Given the description of an element on the screen output the (x, y) to click on. 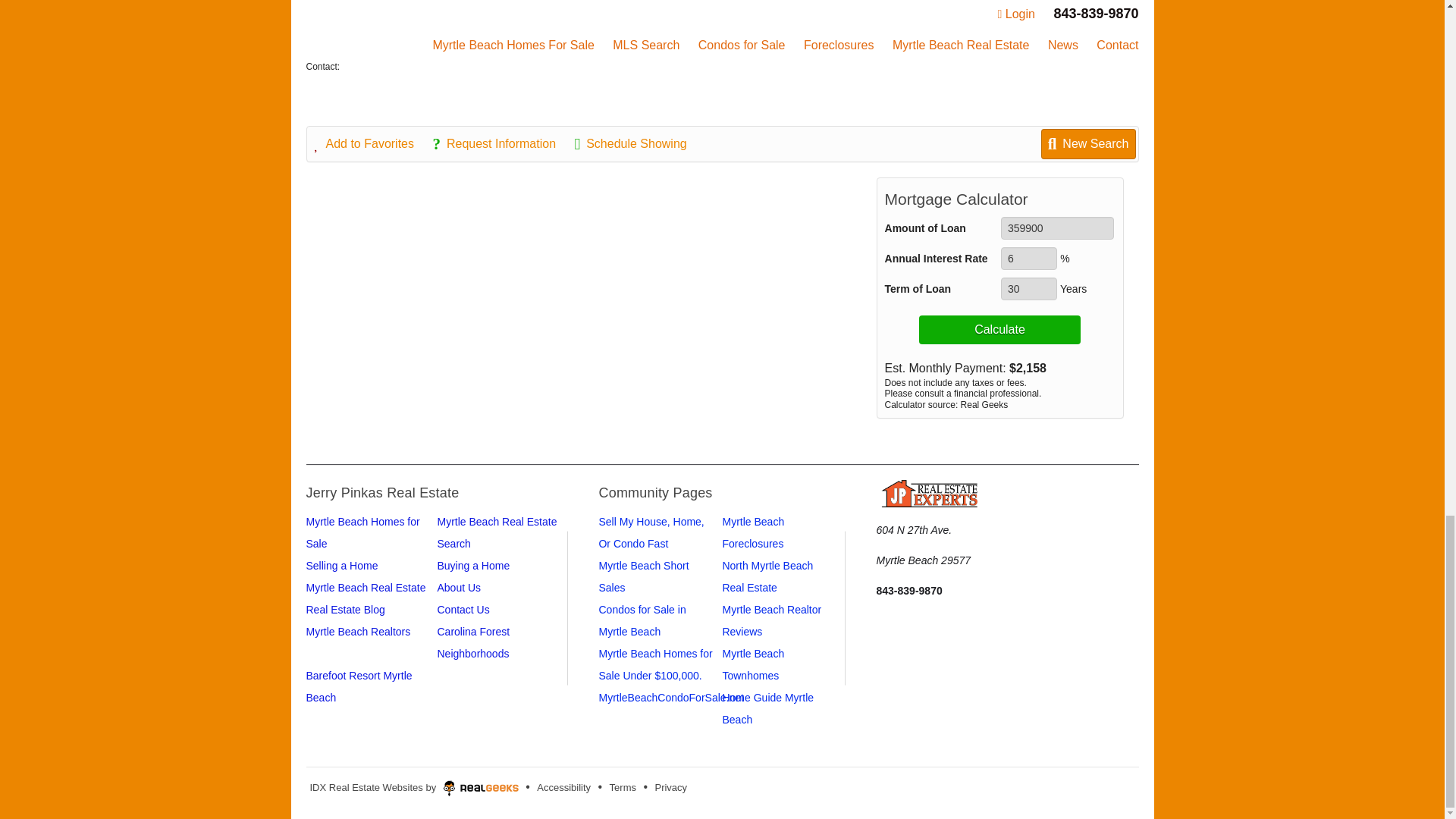
359900 (1057, 228)
30 (1029, 288)
6 (1029, 258)
